Given the description of an element on the screen output the (x, y) to click on. 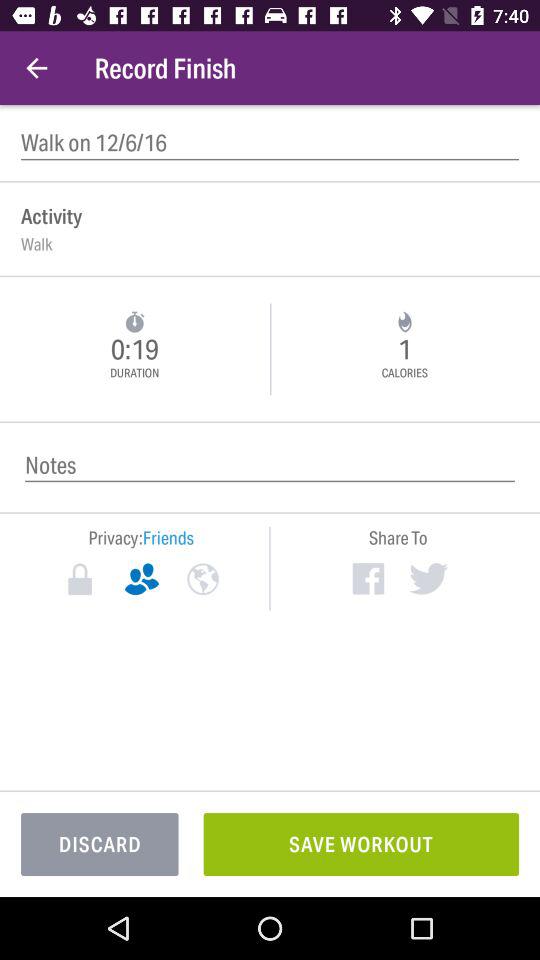
tap the item to the left of the save workout item (99, 844)
